Given the description of an element on the screen output the (x, y) to click on. 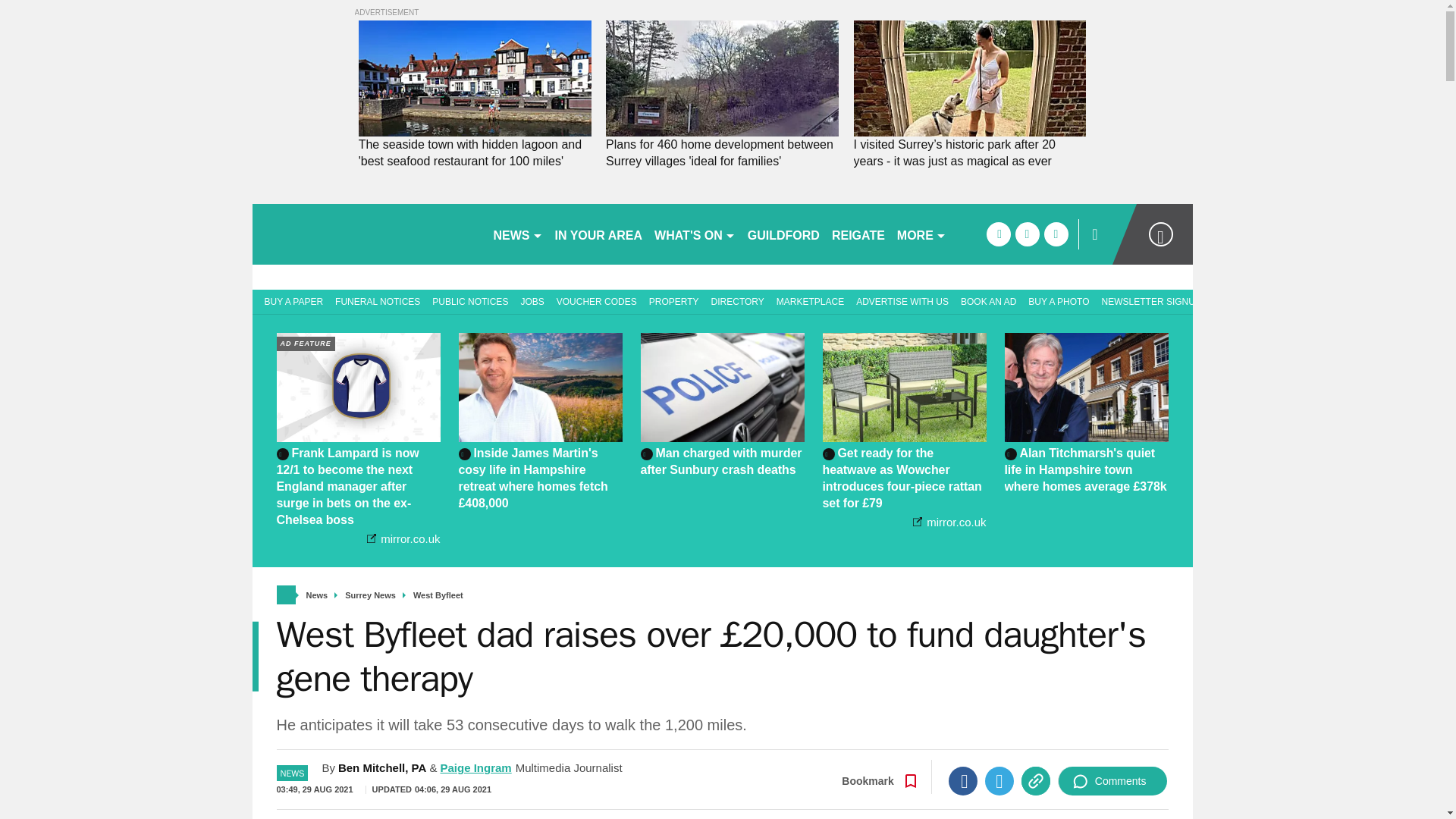
Facebook (962, 780)
GUILDFORD (783, 233)
instagram (1055, 233)
MORE (921, 233)
Twitter (999, 780)
REIGATE (858, 233)
getsurrey (365, 233)
IN YOUR AREA (598, 233)
Comments (1112, 780)
facebook (997, 233)
NEWS (517, 233)
